Given the description of an element on the screen output the (x, y) to click on. 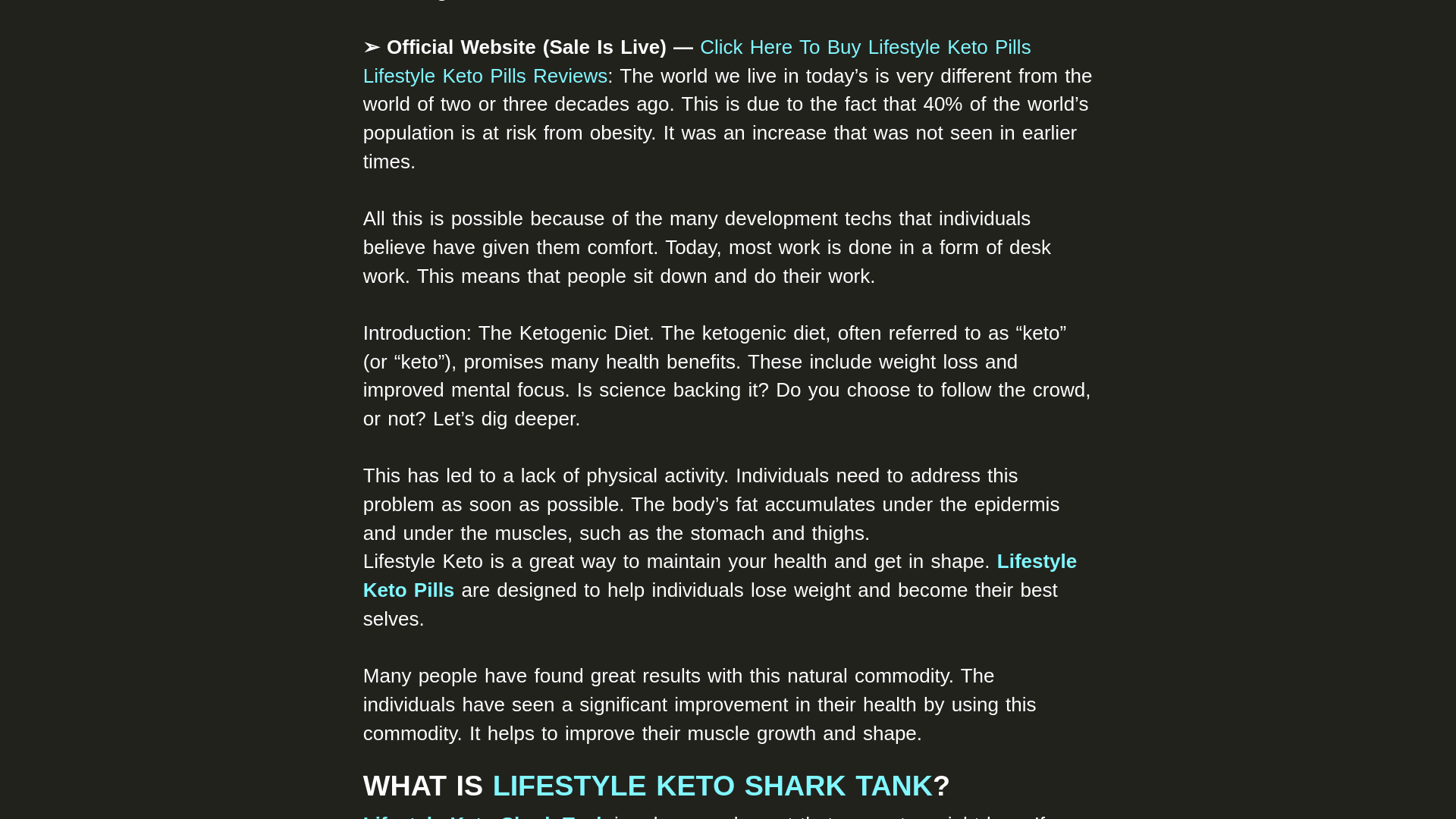
LIFESTYLE KETO SHARK TANK (713, 785)
Lifestyle Keto Pills Reviews (484, 75)
Click Here To Buy Lifestyle Keto Pills (865, 47)
Lifestyle Keto Shark Tank (484, 816)
Lifestyle Keto Pills (719, 575)
